Given the description of an element on the screen output the (x, y) to click on. 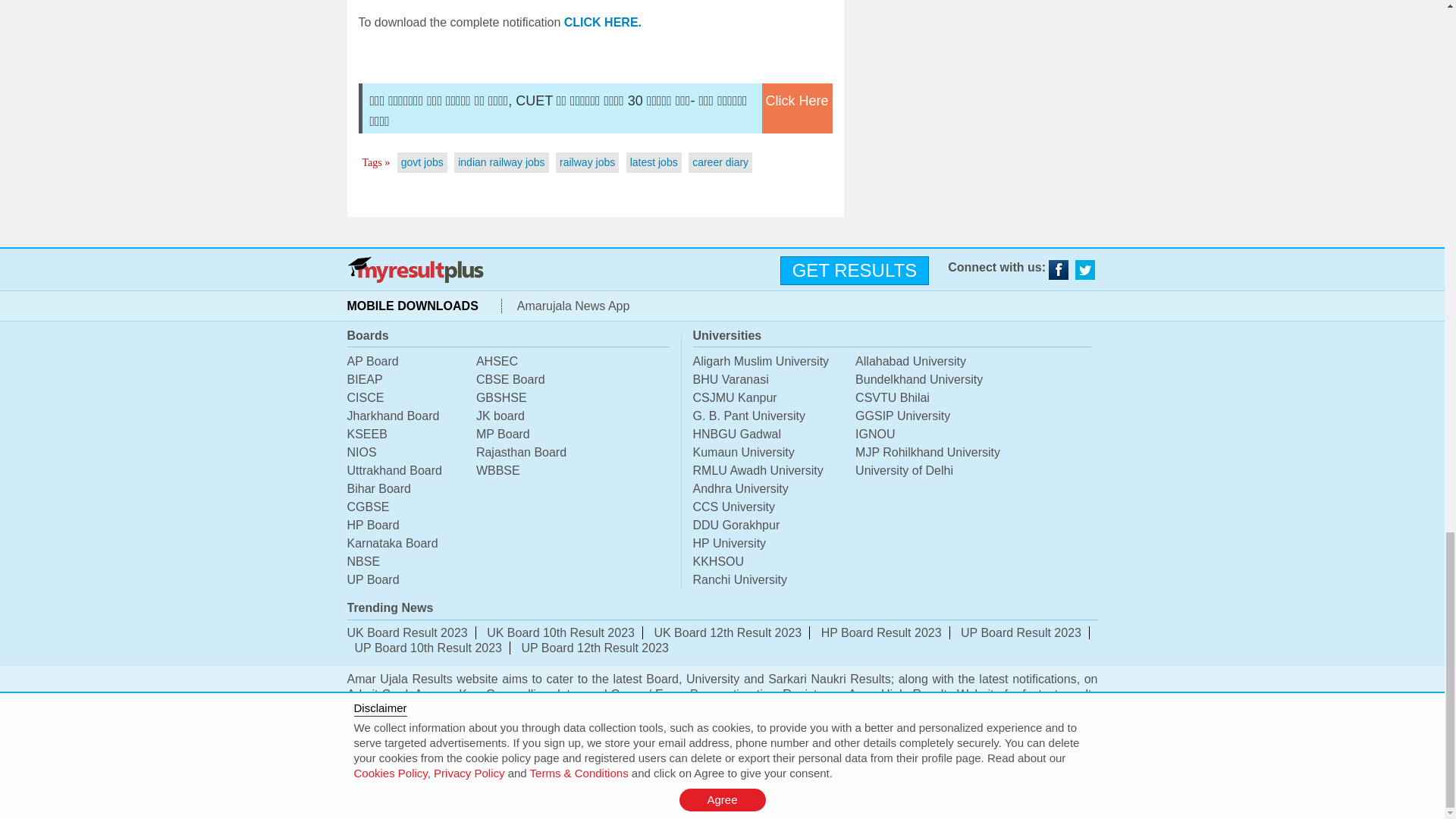
UK Board Result 2023 (407, 632)
UK Board 10th Result 2023 (560, 632)
Delete All Cookies (872, 792)
latest jobs (654, 162)
UP Board 10th Result 2023 (428, 647)
railway jobs (586, 162)
govt jobs (422, 162)
indian railway jobs (501, 162)
UP Board 12th Result 2023 (594, 647)
HP Board Result 2023 (881, 632)
